Given the description of an element on the screen output the (x, y) to click on. 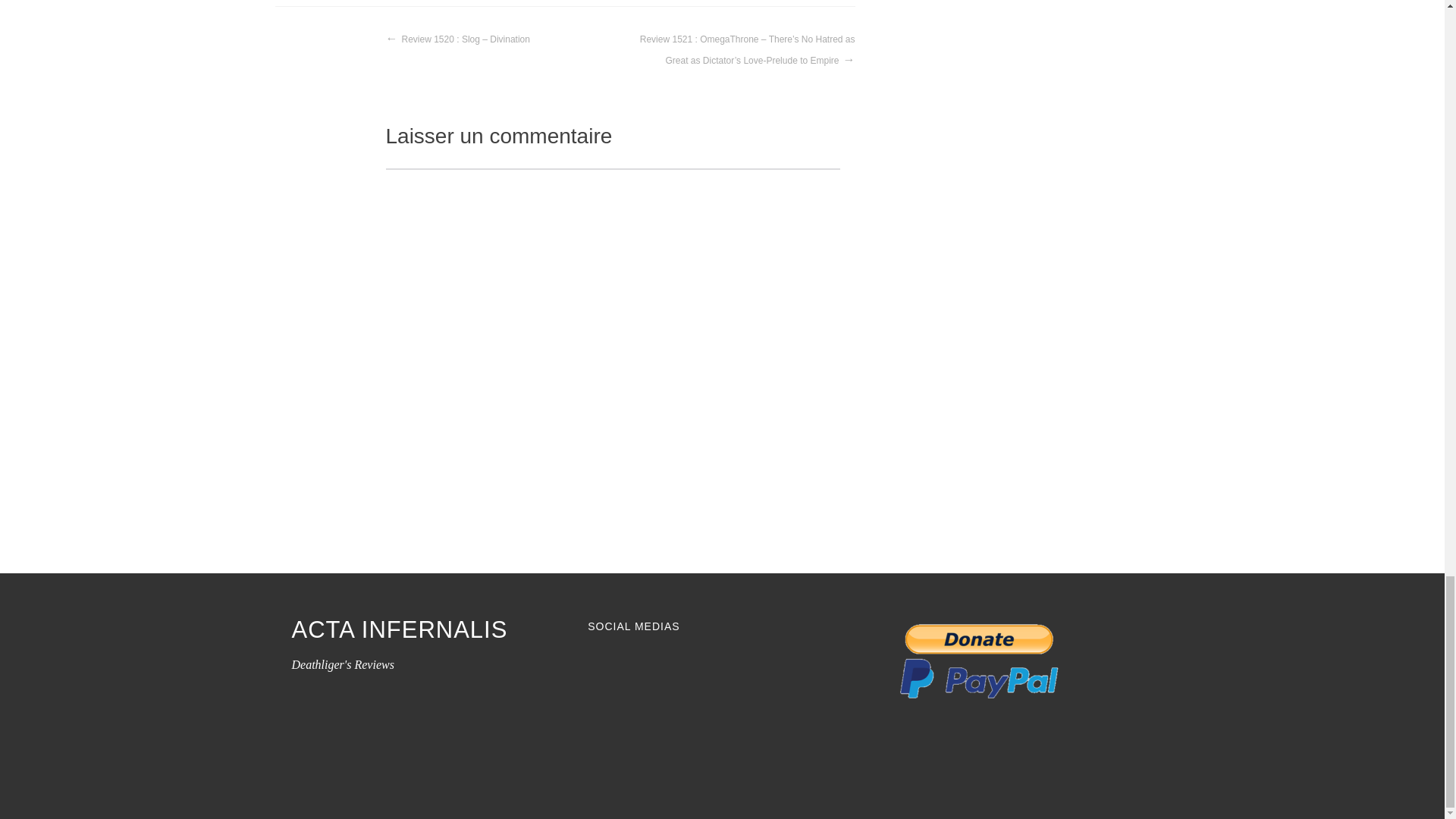
Twitter (654, 670)
Acta Infernalis (398, 629)
TikTok (681, 670)
ACTA INFERNALIS (398, 629)
Instagram (626, 670)
Facebook (599, 670)
